Given the description of an element on the screen output the (x, y) to click on. 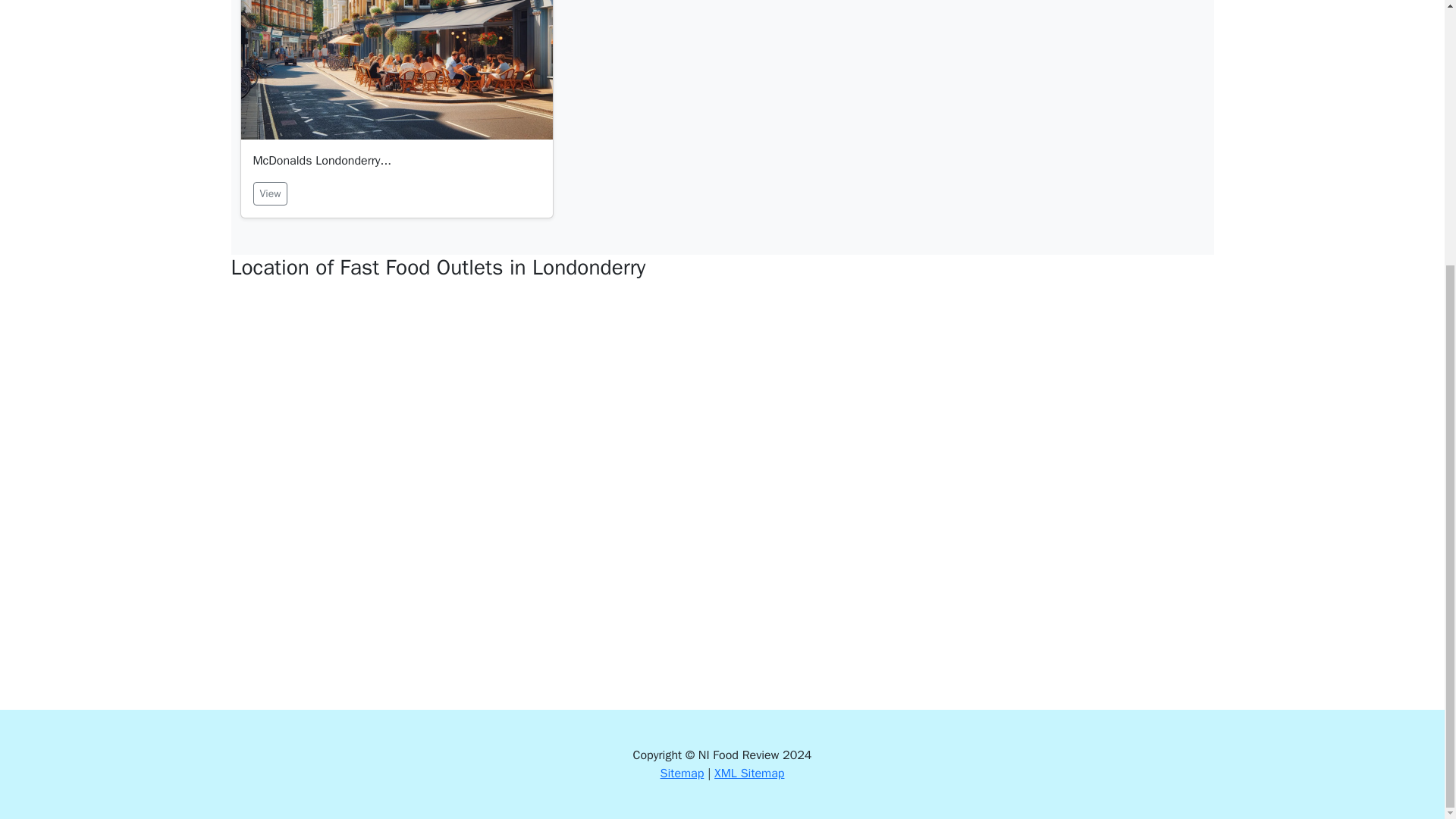
View (270, 193)
XML Sitemap (749, 773)
Sitemap (682, 773)
